Given the description of an element on the screen output the (x, y) to click on. 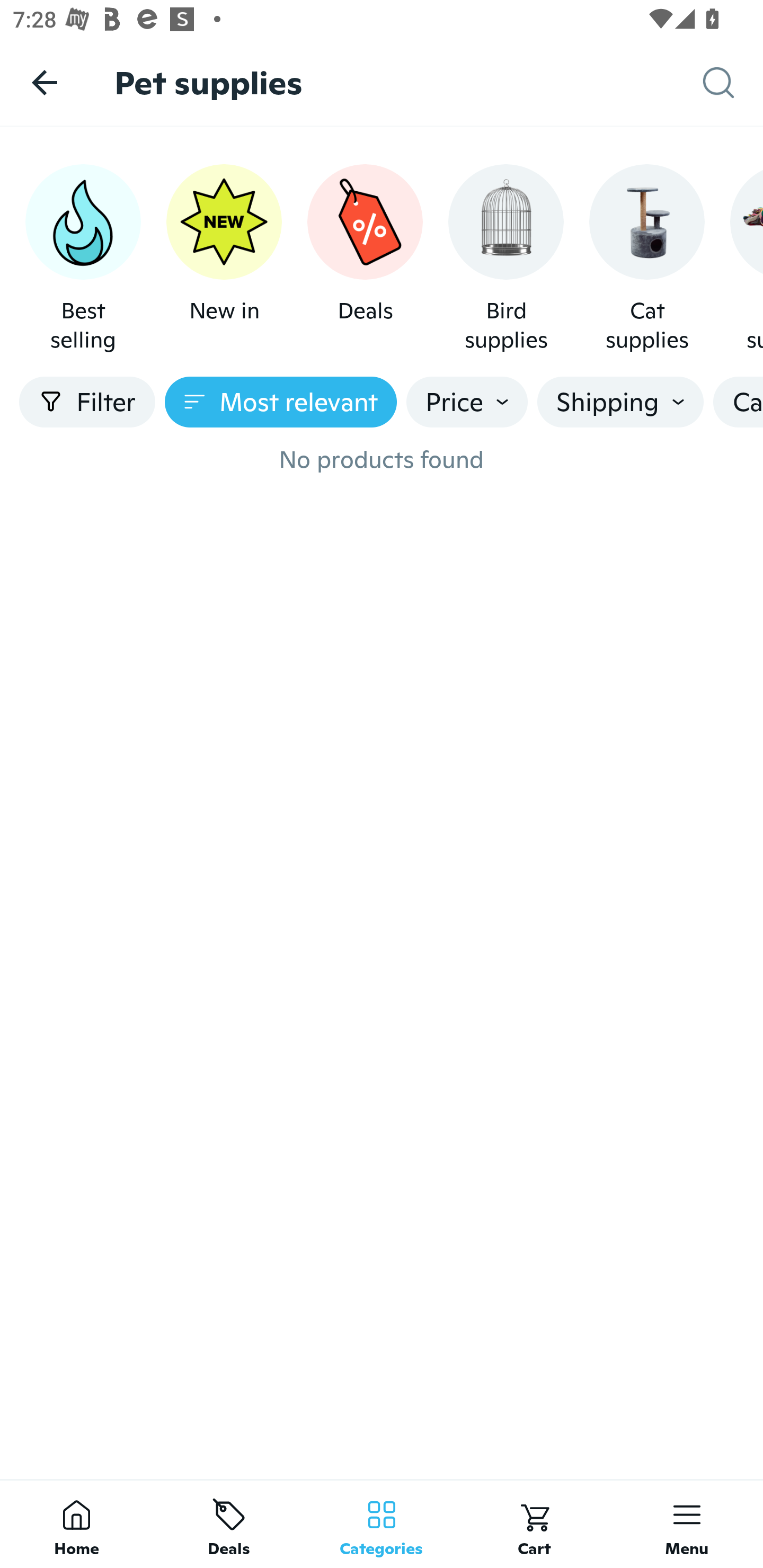
Navigate up (44, 82)
Search (732, 82)
Best selling (83, 259)
New in (223, 259)
Deals (364, 259)
Bird supplies (505, 259)
Cat supplies (647, 259)
Filter (86, 402)
Most relevant (280, 402)
Price (466, 402)
Shipping (620, 402)
Home (76, 1523)
Deals (228, 1523)
Categories (381, 1523)
Cart (533, 1523)
Menu (686, 1523)
